Given the description of an element on the screen output the (x, y) to click on. 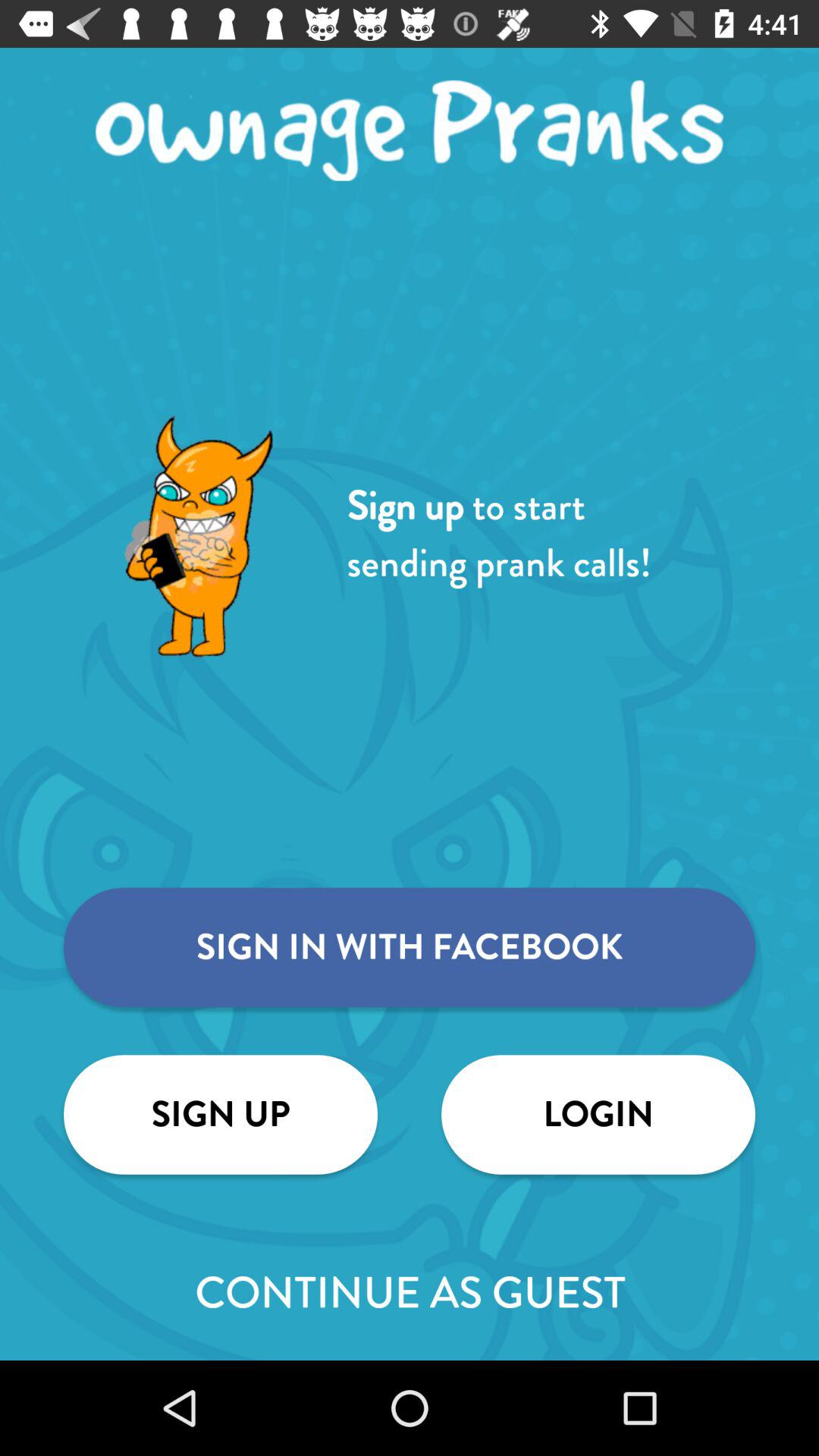
flip until the sign in with (409, 947)
